Given the description of an element on the screen output the (x, y) to click on. 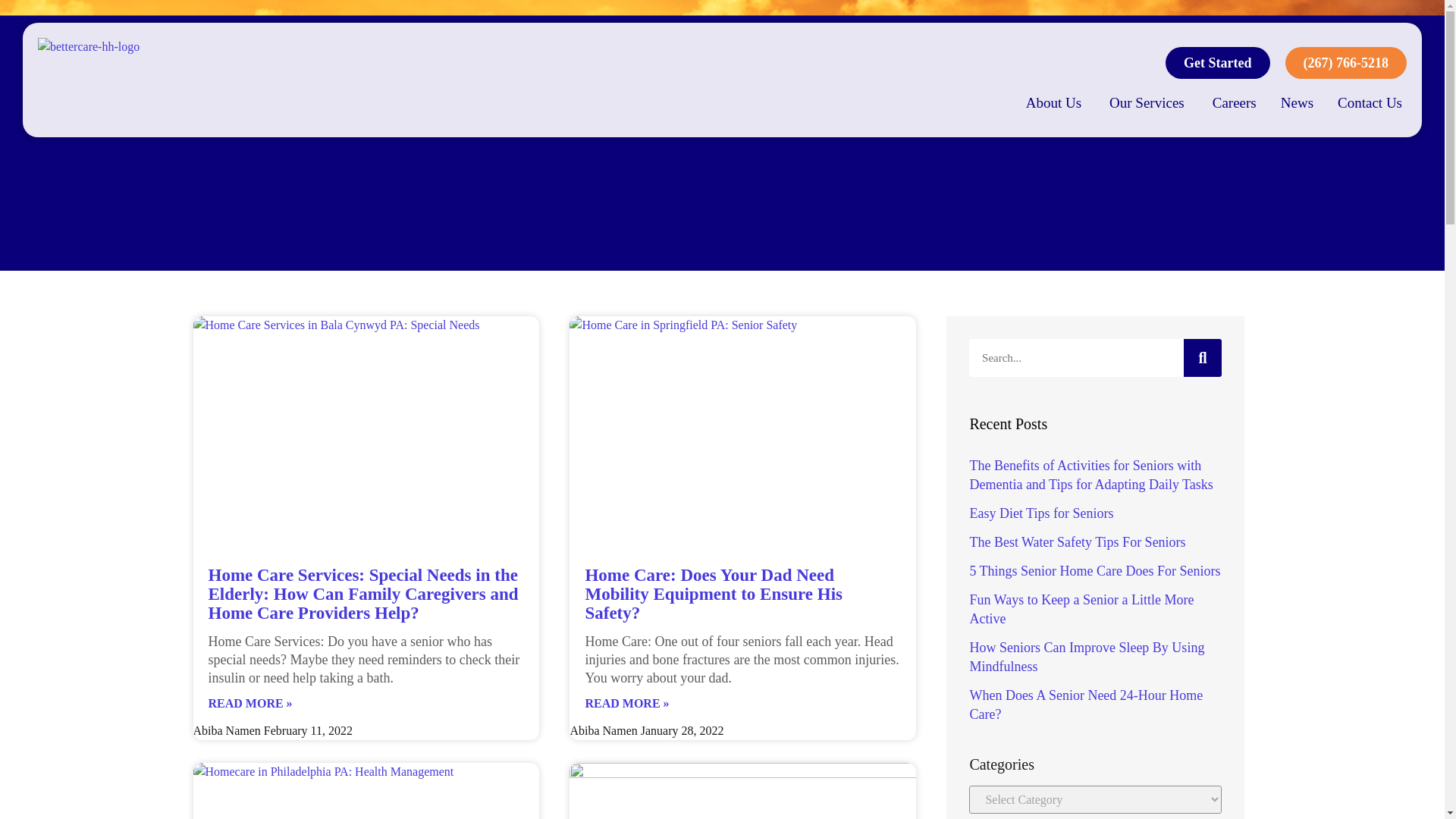
News (1297, 103)
Get Started (1217, 62)
Careers (1234, 103)
About Us (1053, 103)
Our Services (1147, 103)
Contact Us (1370, 103)
